Given the description of an element on the screen output the (x, y) to click on. 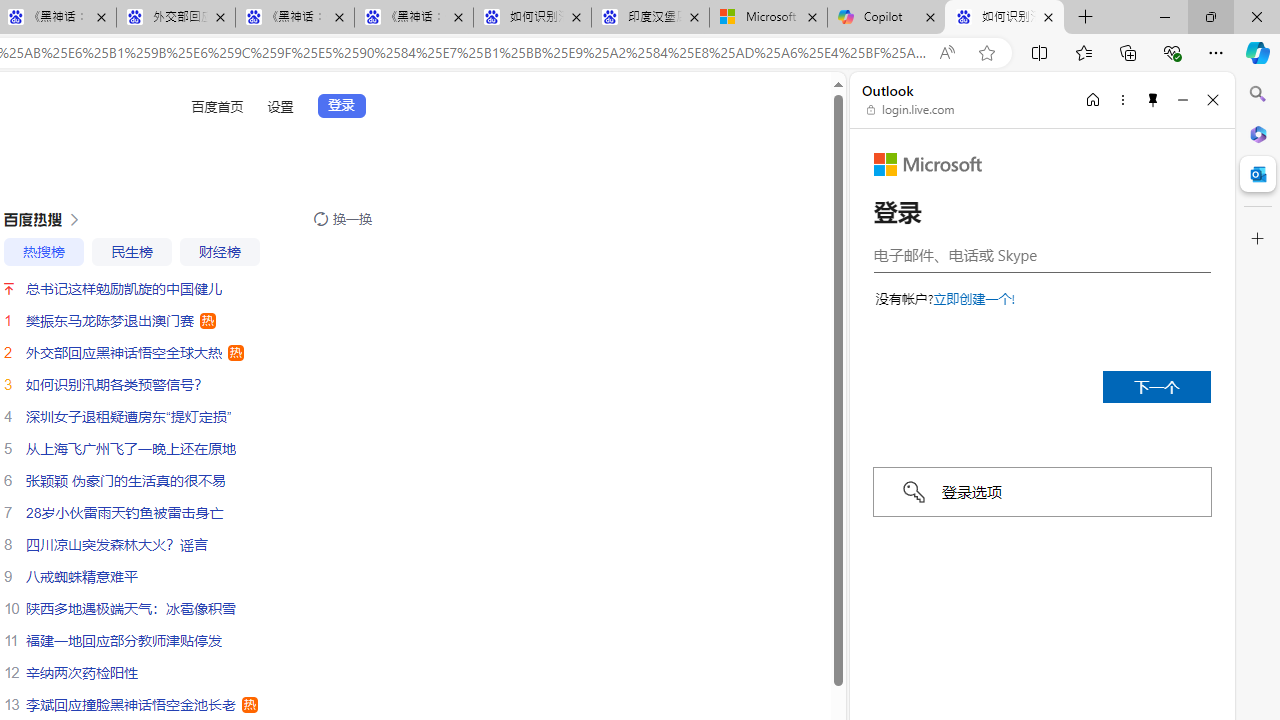
Copilot (886, 17)
Unpin side pane (1153, 99)
Outlook (1258, 174)
Home (1093, 99)
Customize (1258, 239)
Microsoft (927, 164)
